Given the description of an element on the screen output the (x, y) to click on. 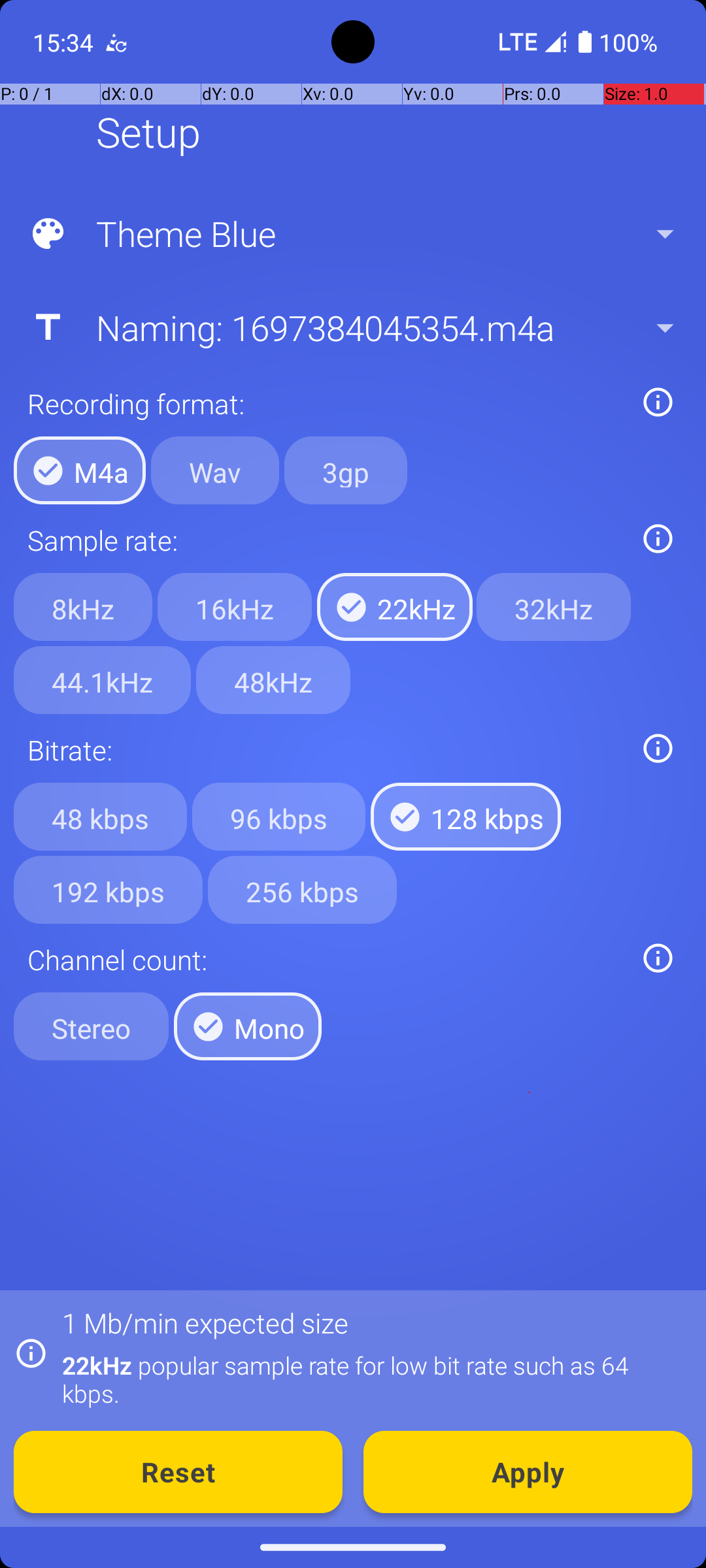
22kHz popular sample rate for low bit rate such as 64 kbps. Element type: android.widget.TextView (370, 1378)
Naming: 1697384045354.m4a Element type: android.widget.TextView (352, 327)
